Given the description of an element on the screen output the (x, y) to click on. 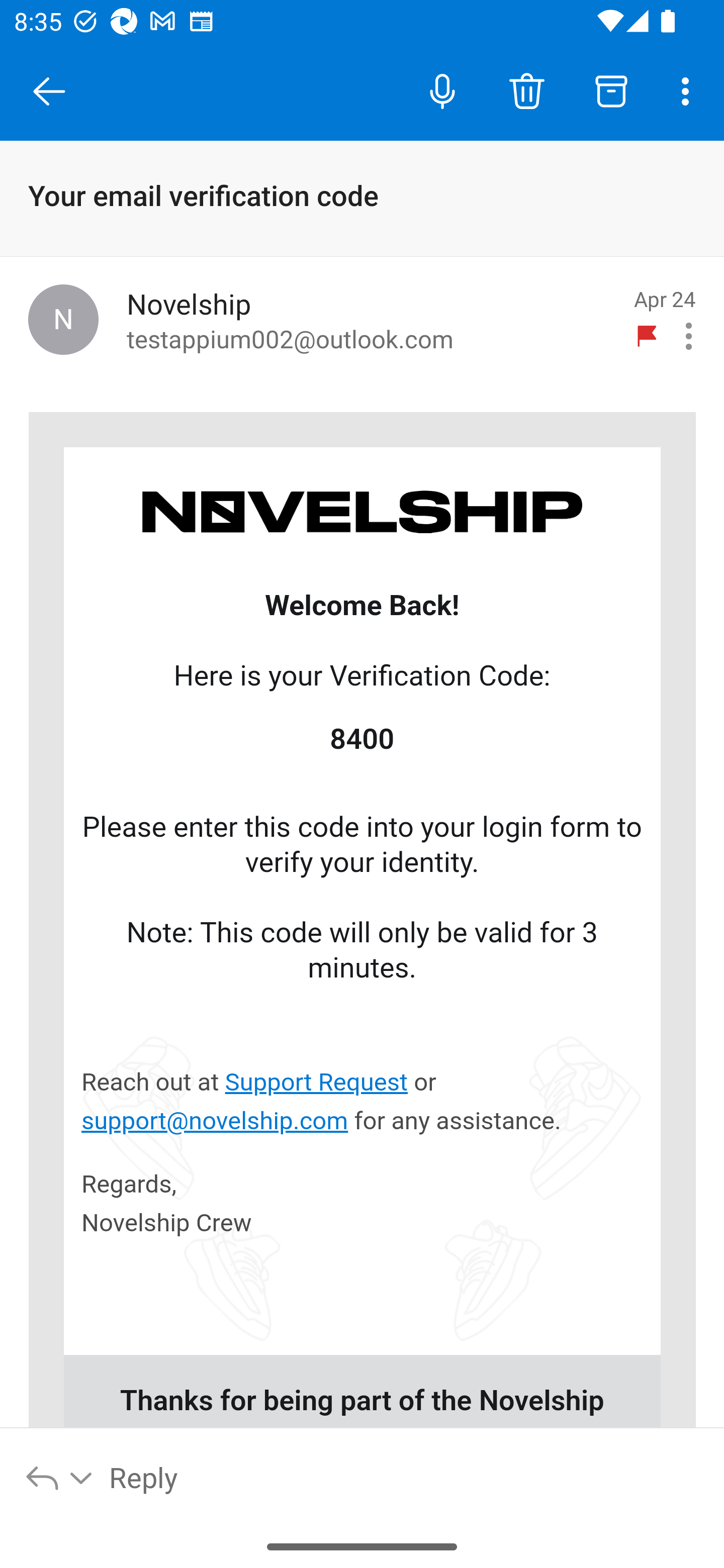
Close (49, 91)
Delete (526, 90)
Archive (611, 90)
More options (688, 90)
Novelship, no-reply@send.novelship.com (63, 318)
Novelship
to testappium002@outlook.com (372, 319)
Message actions (688, 336)
Support Request (316, 1081)
support@novelship.com (214, 1120)
Reply options (59, 1476)
